Given the description of an element on the screen output the (x, y) to click on. 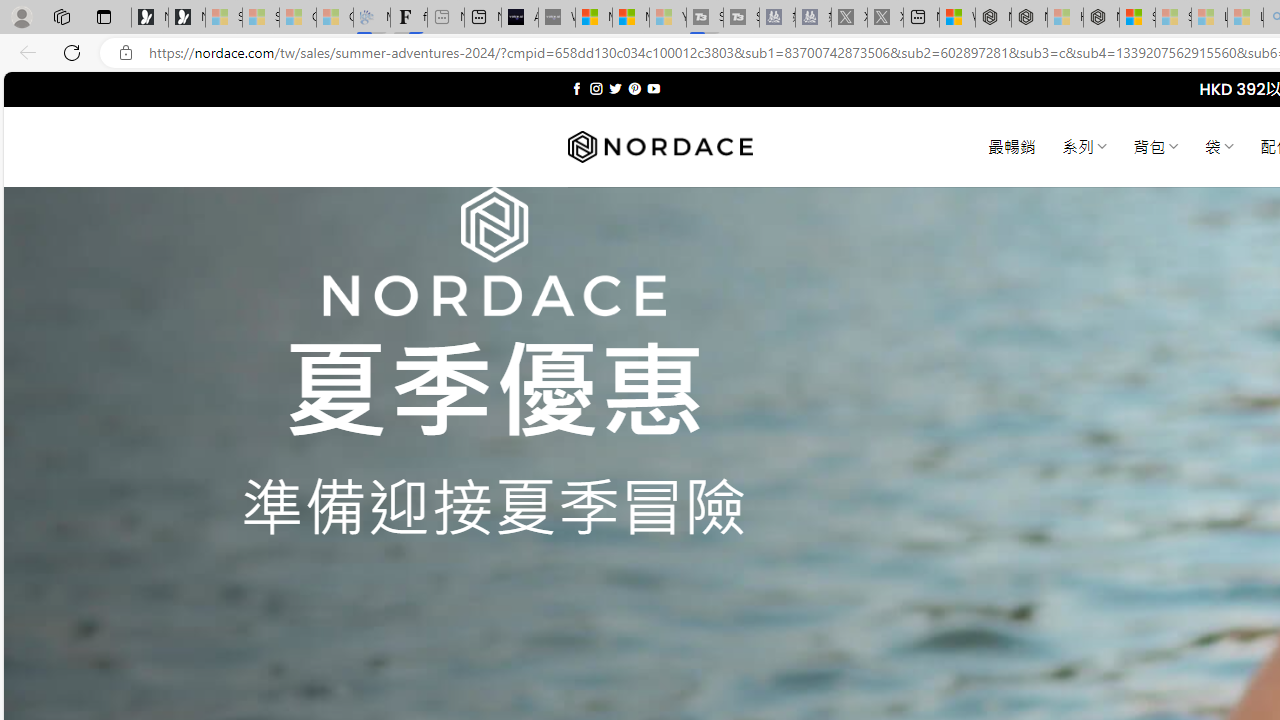
Follow on Twitter (615, 88)
